Given the description of an element on the screen output the (x, y) to click on. 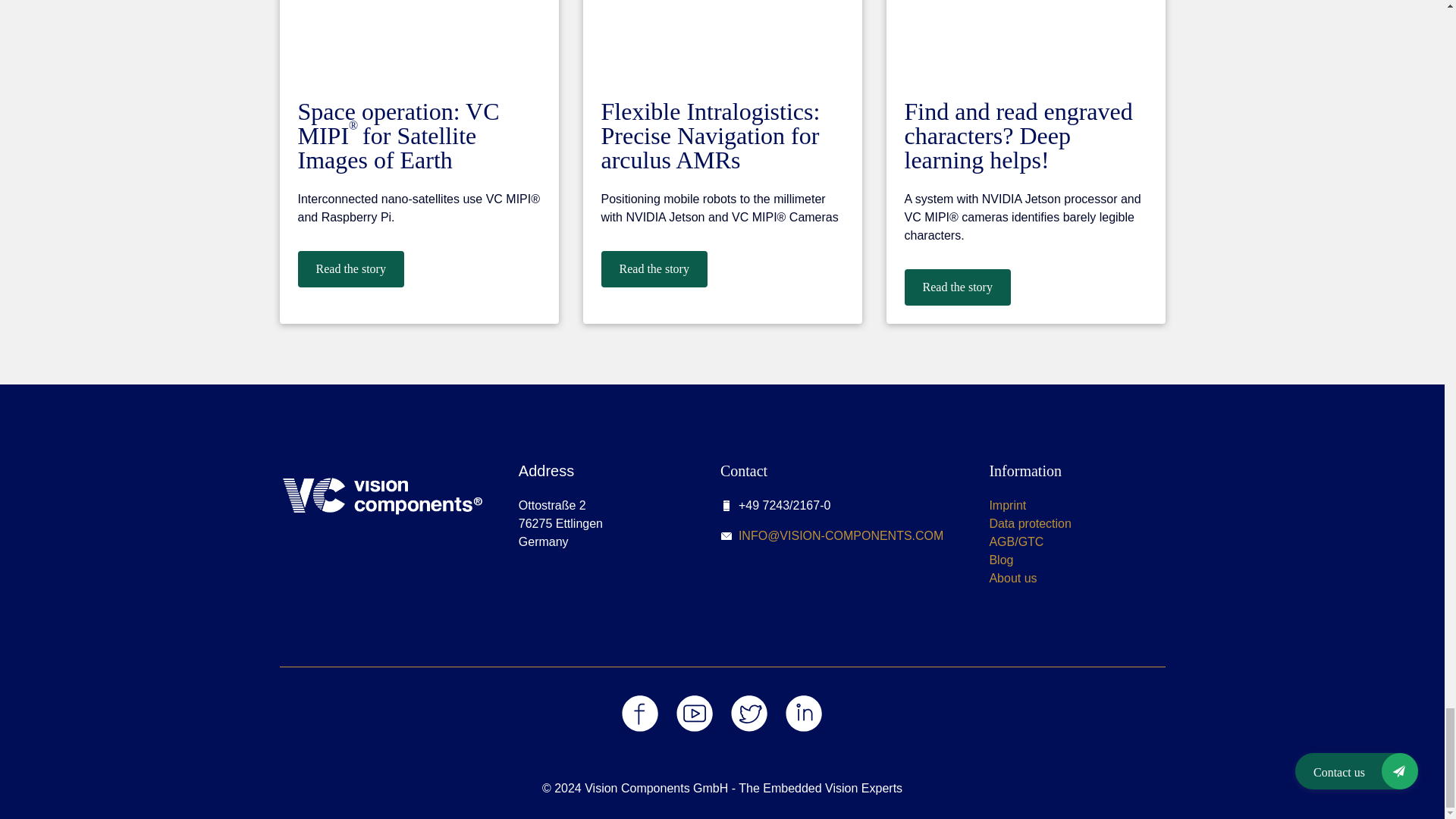
Read the story (350, 268)
Imprint (1007, 504)
Data protection (1029, 522)
Read the story (652, 268)
Read the story (957, 287)
